Given the description of an element on the screen output the (x, y) to click on. 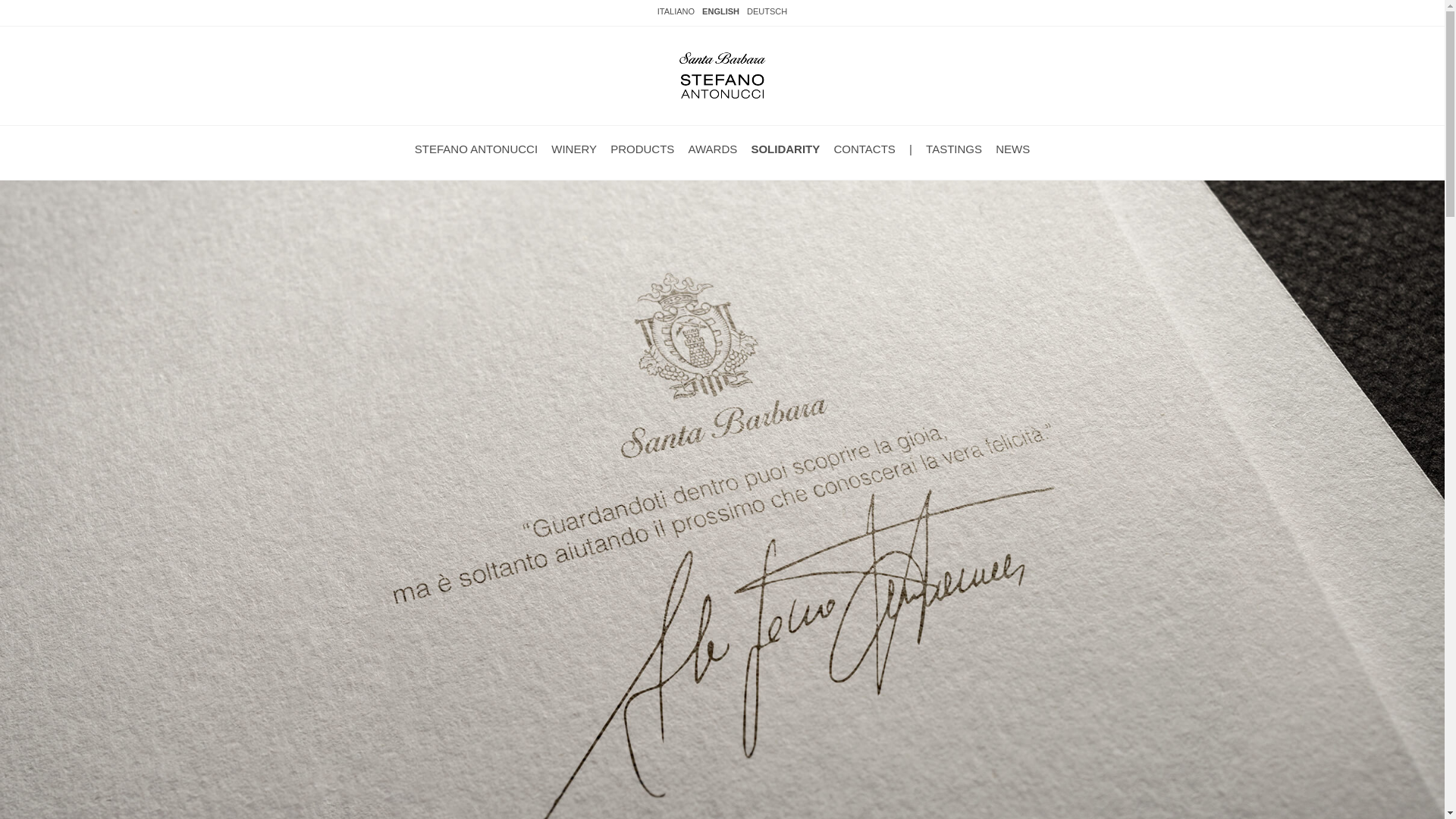
ITALIANO (676, 10)
TASTINGS (953, 148)
ENGLISH (720, 10)
PRODUCTS (642, 148)
WINERY (573, 148)
STEFANO ANTONUCCI (475, 148)
NEWS (1012, 148)
SOLIDARITY (785, 148)
CONTACTS (863, 148)
DEUTSCH (766, 10)
